Given the description of an element on the screen output the (x, y) to click on. 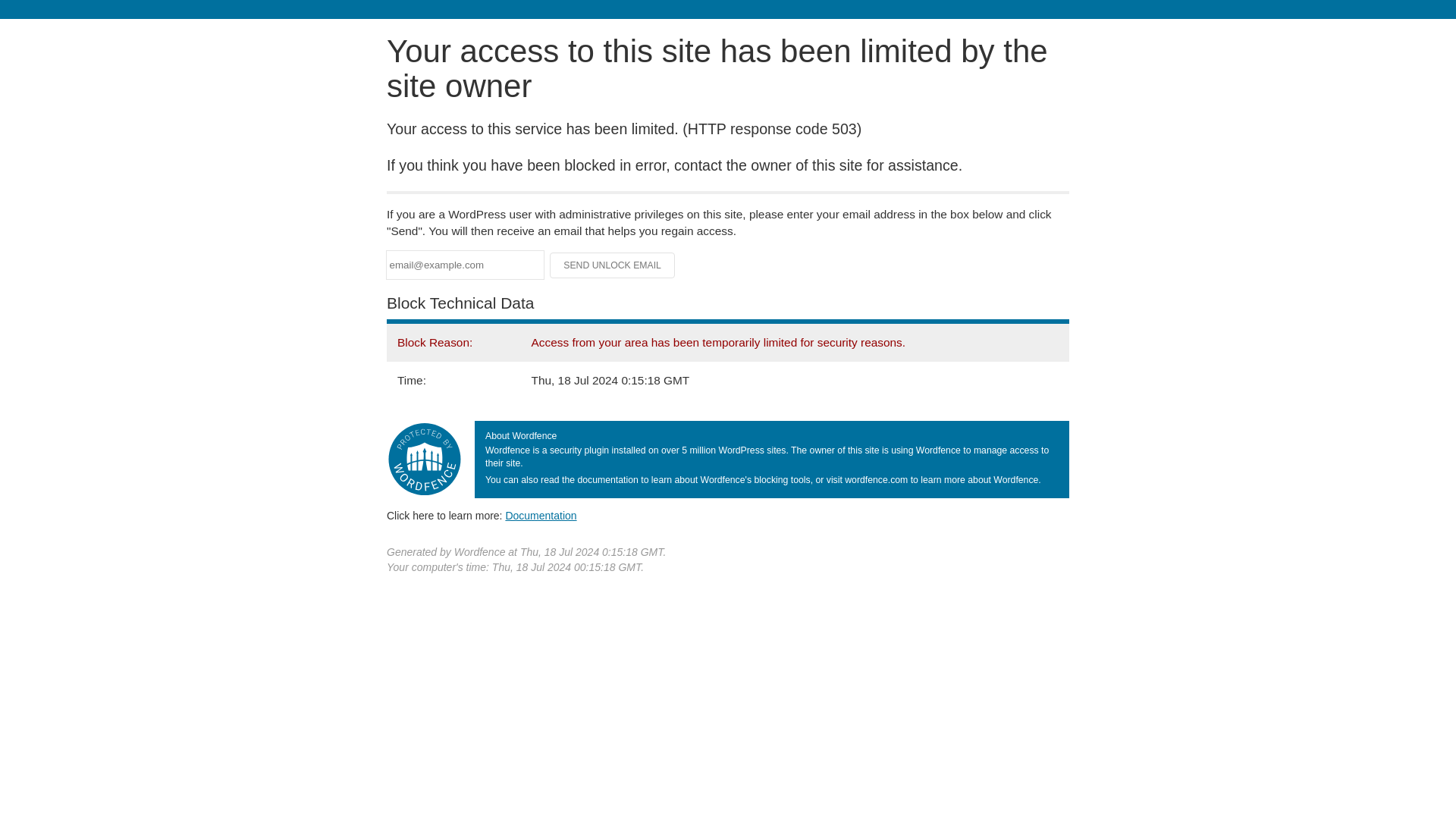
Send Unlock Email (612, 265)
Documentation (540, 515)
Send Unlock Email (612, 265)
